Given the description of an element on the screen output the (x, y) to click on. 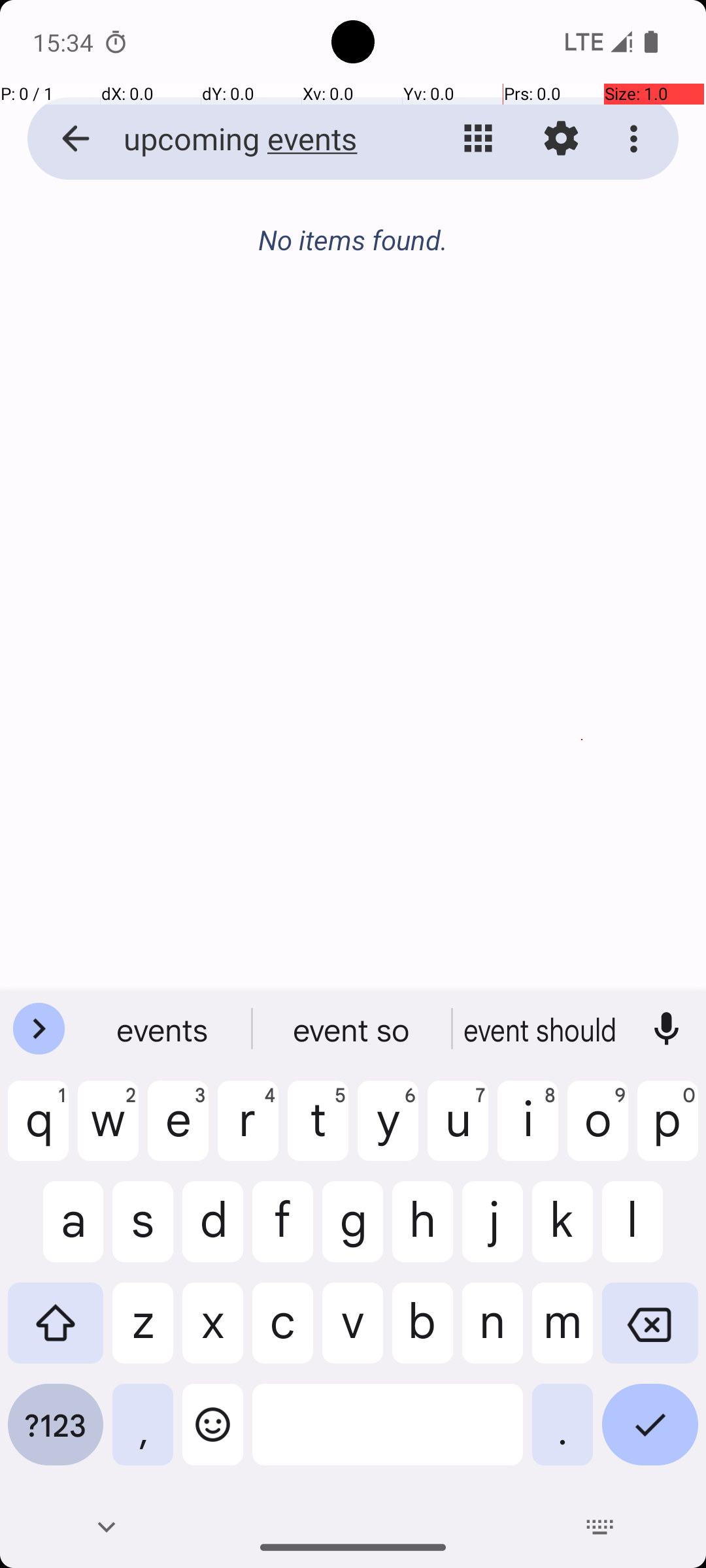
upcoming events Element type: android.widget.EditText (252, 138)
events Element type: android.widget.FrameLayout (163, 1028)
eventually Element type: android.widget.FrameLayout (541, 1028)
